Given the description of an element on the screen output the (x, y) to click on. 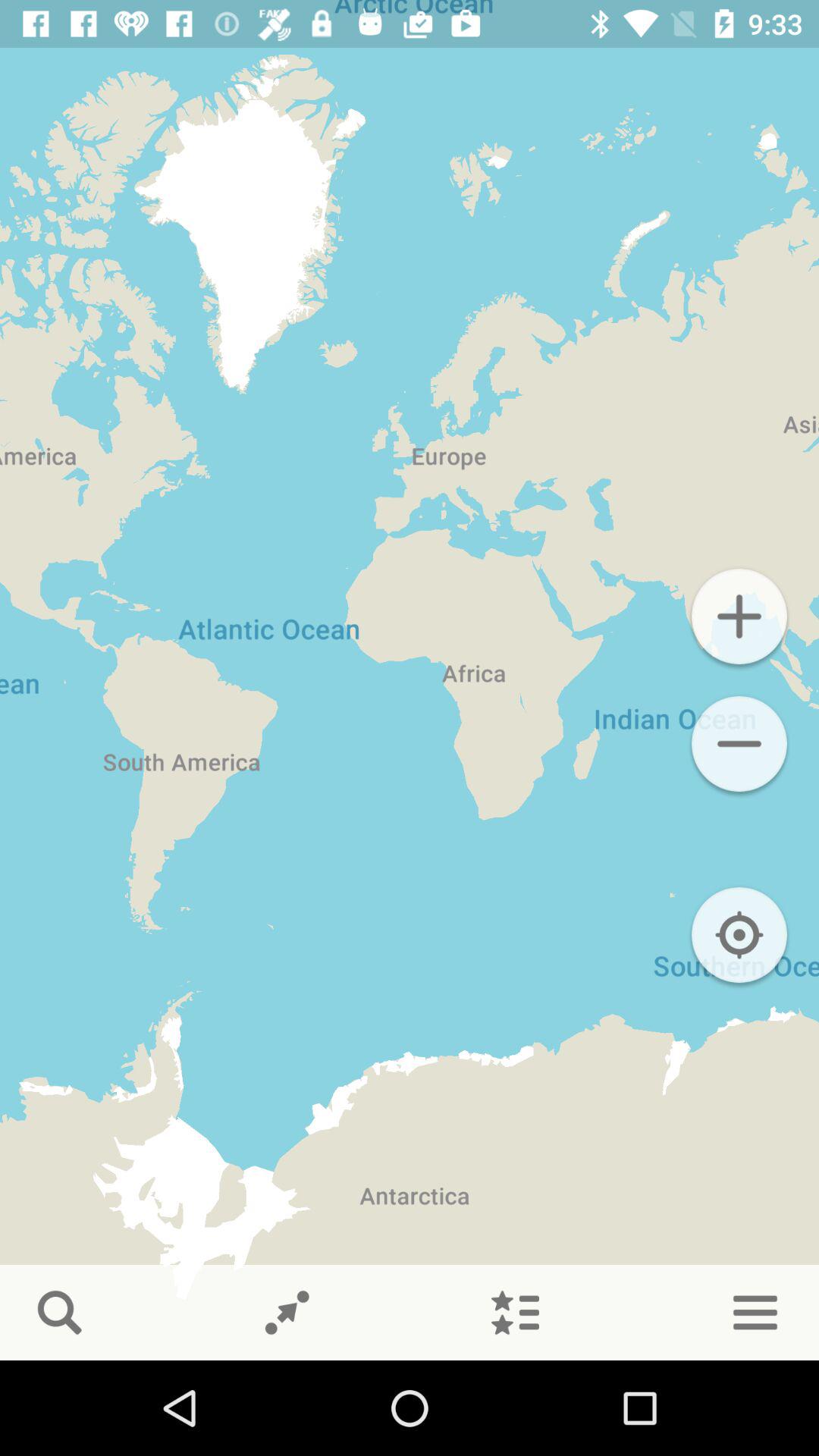
zoom out icon (739, 743)
